Given the description of an element on the screen output the (x, y) to click on. 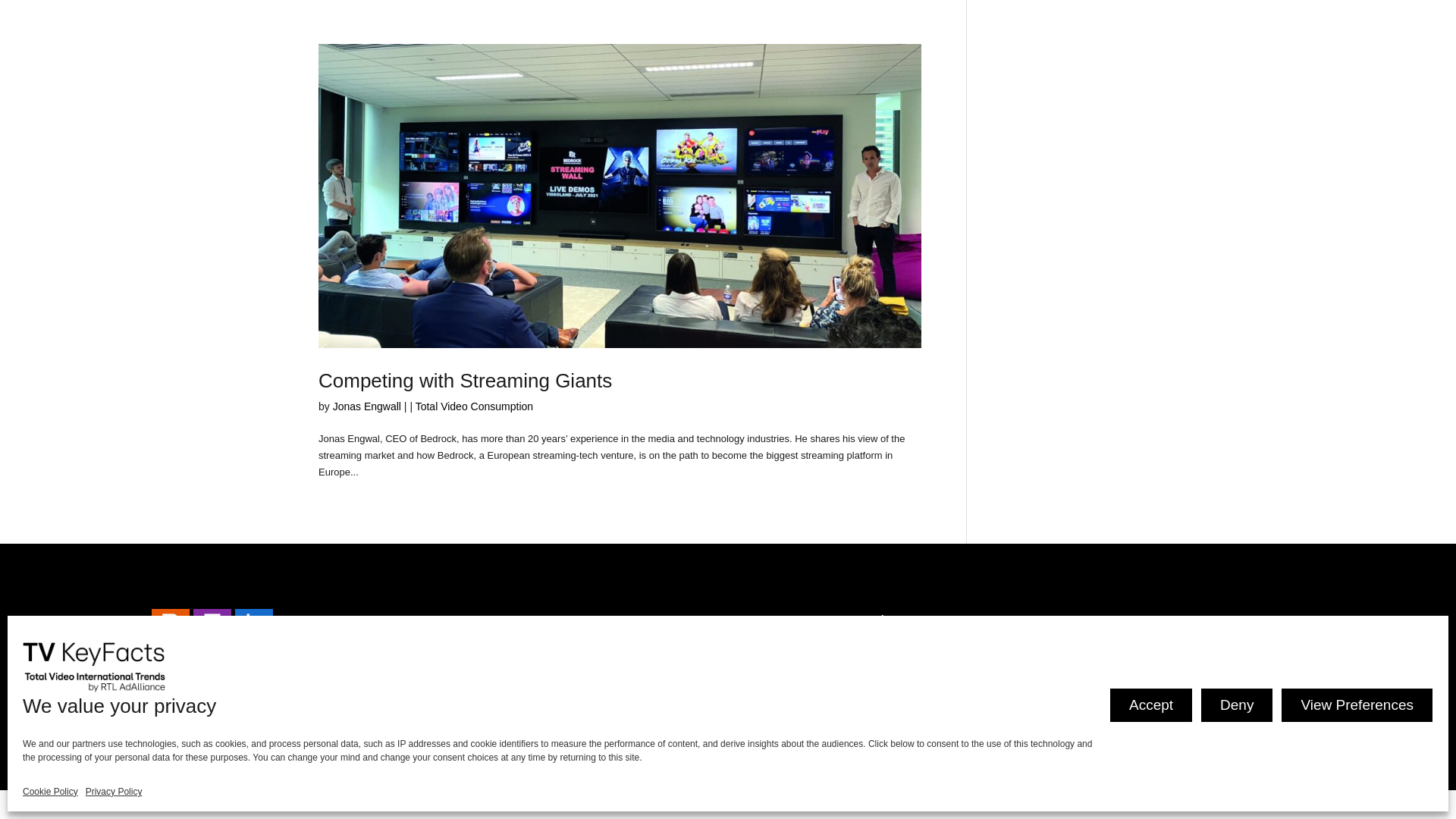
Privacy policy (176, 775)
Event (582, 698)
Competing with Streaming Giants (464, 380)
Magazine (597, 621)
Deny (1235, 705)
Jonas Engwall (367, 406)
Total Video Consumption (473, 406)
Accept (1150, 705)
View Preferences (1356, 705)
Database (597, 659)
